Given the description of an element on the screen output the (x, y) to click on. 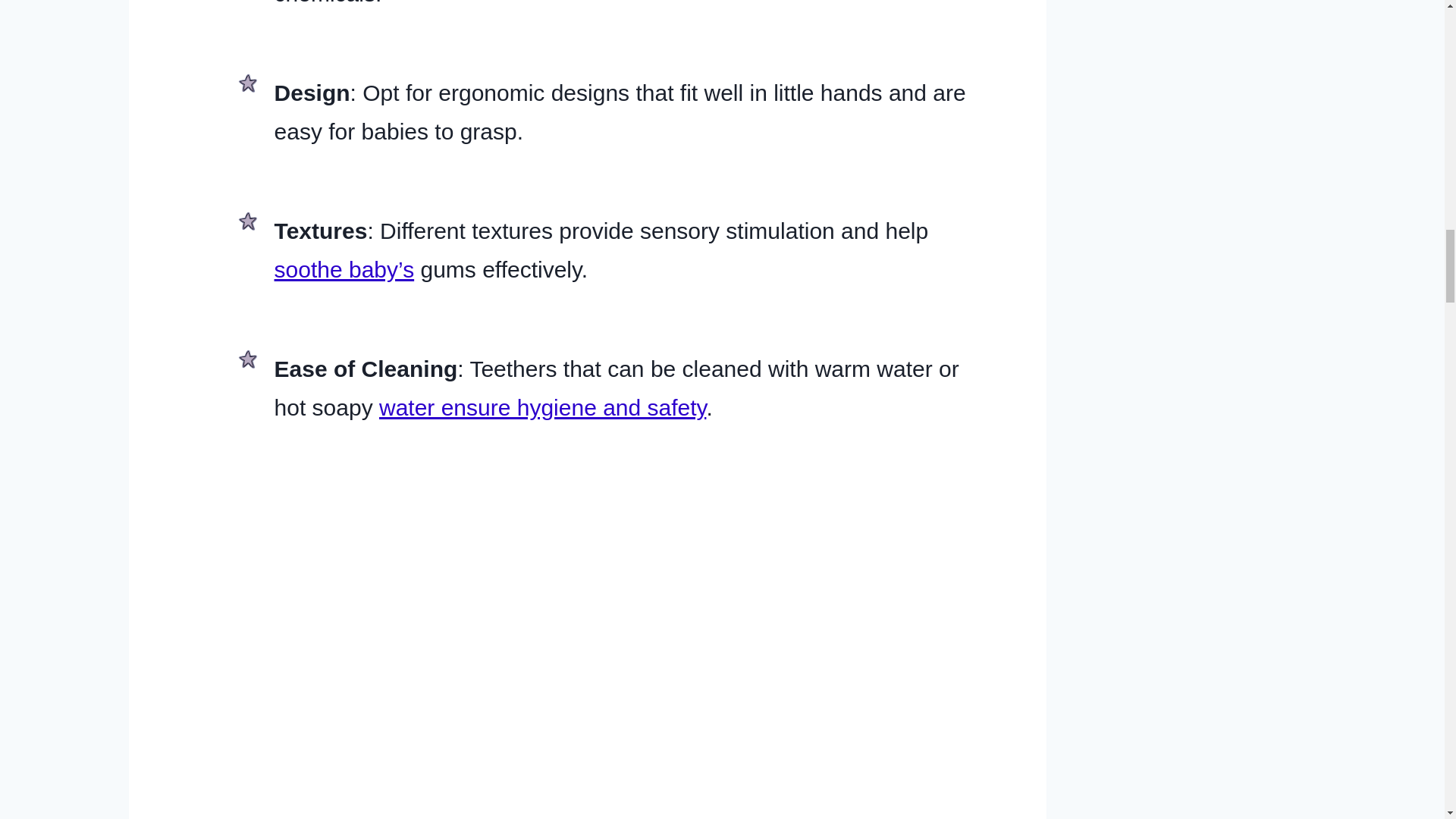
18 Important Water Safety Tips for Kids (542, 407)
water ensure hygiene and safety (542, 407)
The Best Songs To Help a Crying Baby Calm Down (344, 269)
